Given the description of an element on the screen output the (x, y) to click on. 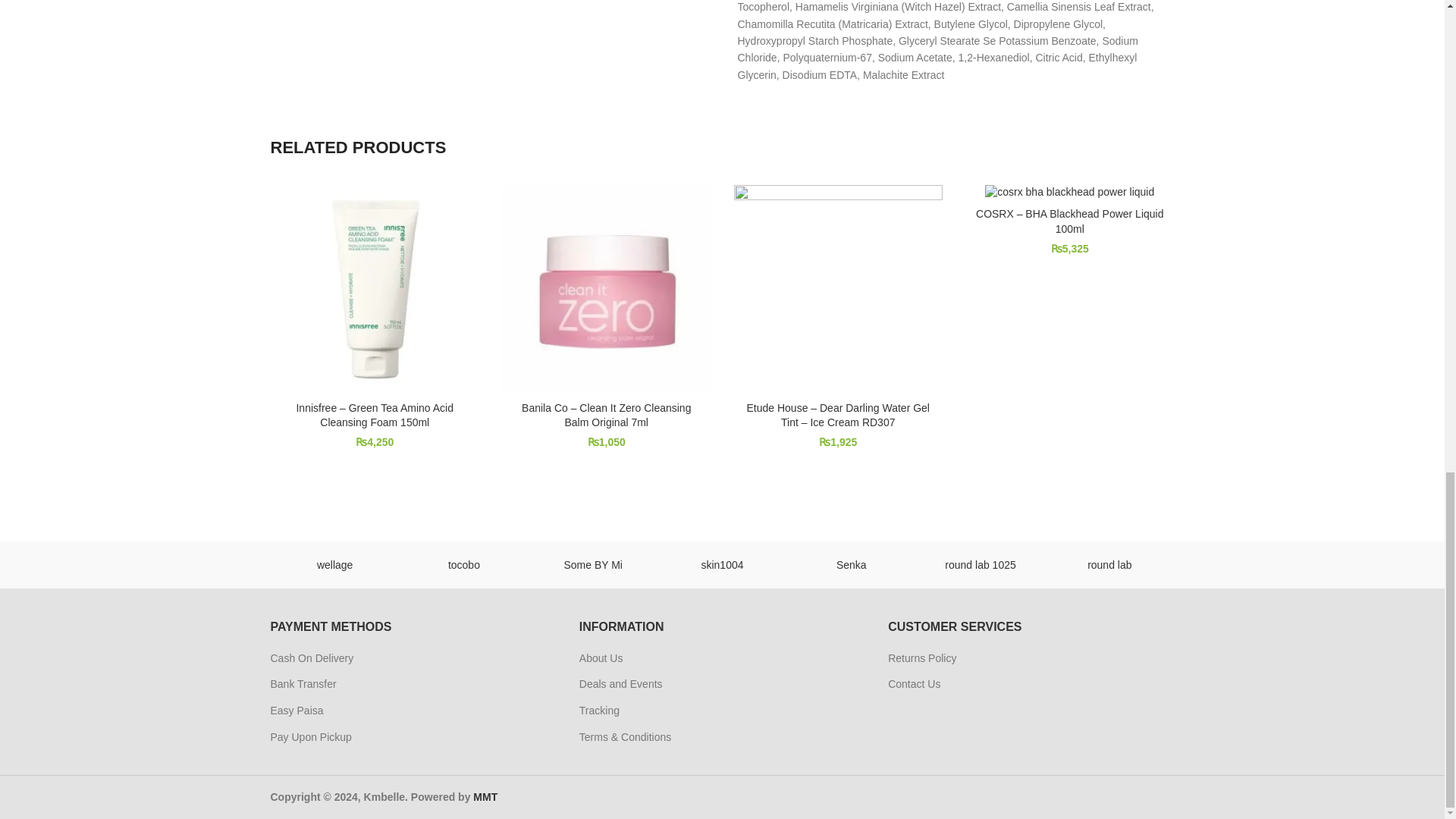
tocobo (463, 564)
Some BY Mi (593, 564)
wellage (333, 564)
Senka (851, 564)
skin1004 (722, 564)
